Given the description of an element on the screen output the (x, y) to click on. 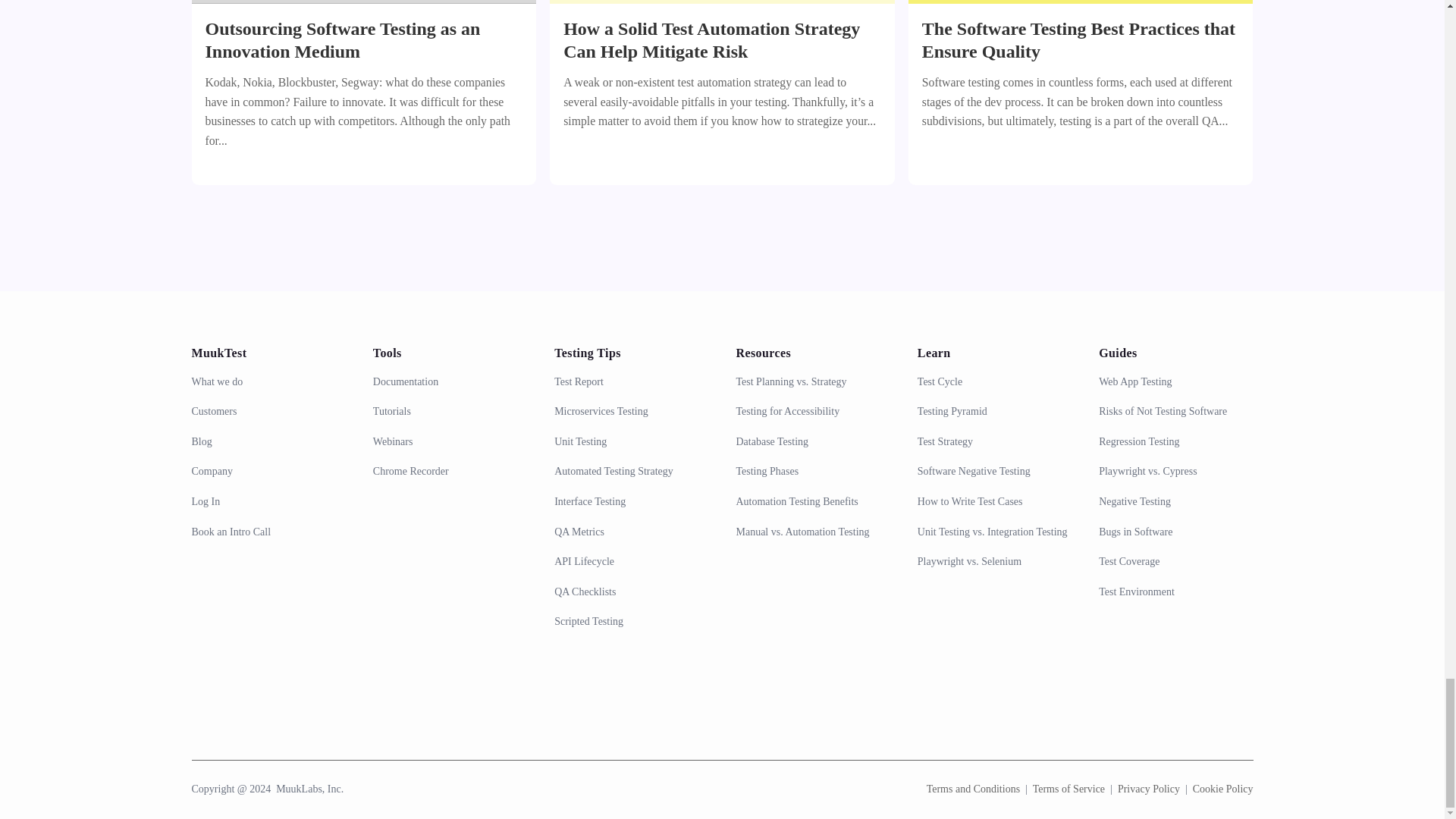
Blog (267, 441)
Test Report (630, 381)
Documentation (449, 381)
Webinars (449, 441)
Customers (267, 411)
Chrome Recorder (449, 471)
What we do (267, 381)
Log In (267, 501)
Company (267, 471)
Book an Intro Call (267, 531)
Tutorials (449, 411)
